Given the description of an element on the screen output the (x, y) to click on. 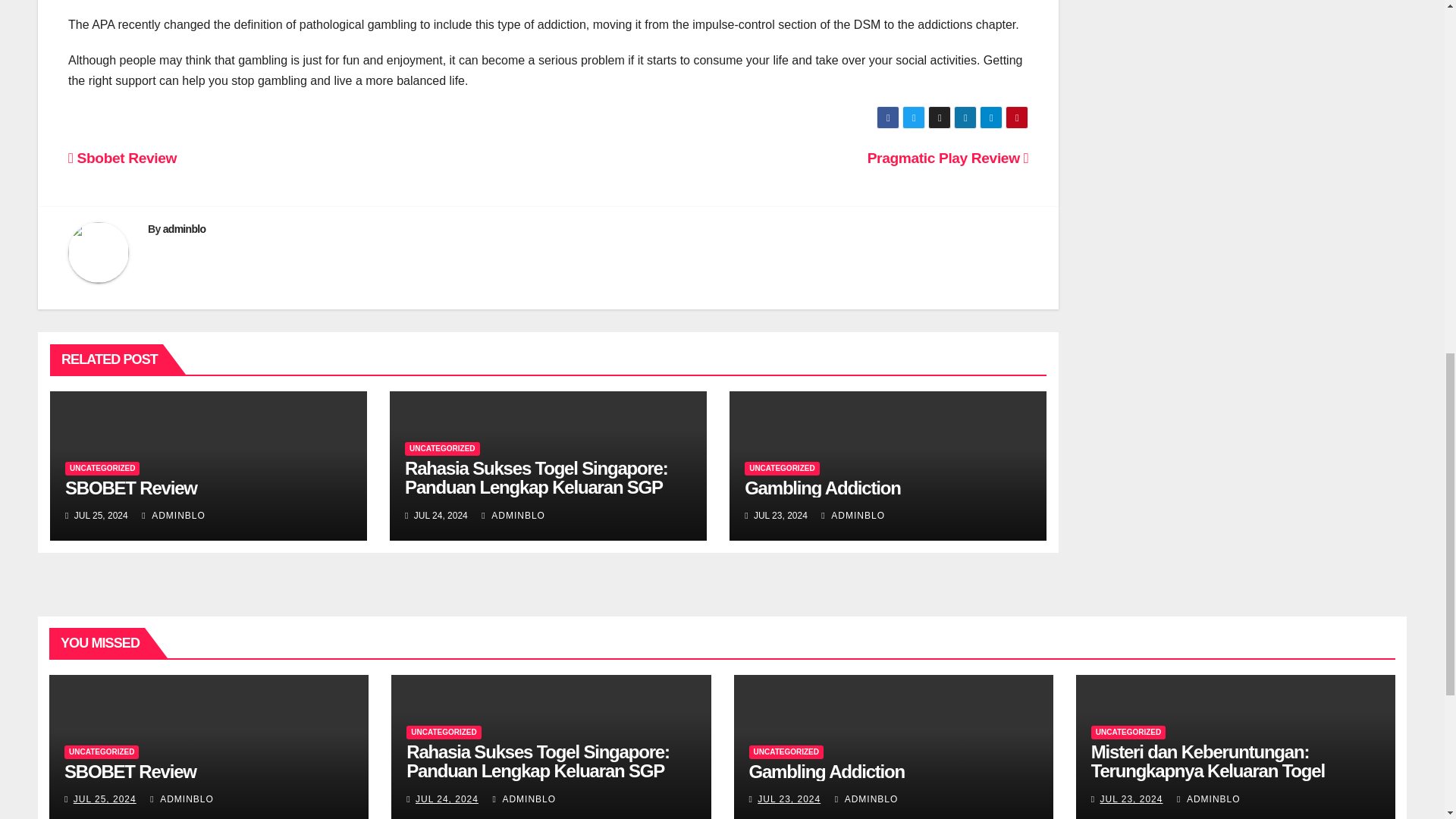
adminblo (184, 228)
Permalink to: SBOBET Review (130, 487)
Permalink to: Gambling Addiction (827, 771)
UNCATEGORIZED (441, 448)
ADMINBLO (853, 515)
Permalink to: Gambling Addiction (822, 487)
ADMINBLO (512, 515)
UNCATEGORIZED (102, 468)
Pragmatic Play Review (948, 157)
Permalink to: SBOBET Review (130, 771)
ADMINBLO (173, 515)
